Given the description of an element on the screen output the (x, y) to click on. 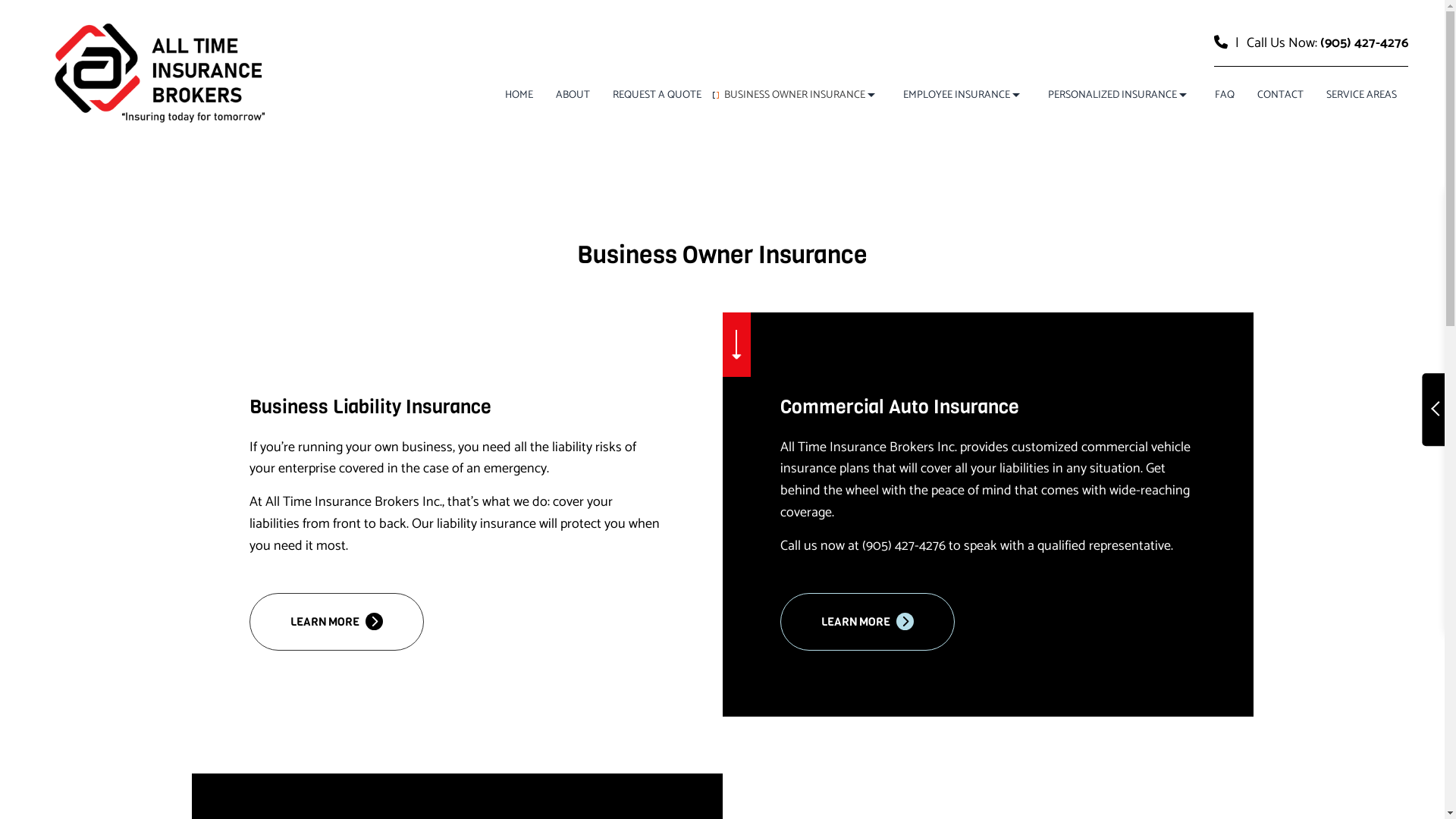
PRESCRIPTION DRUG PLAN Element type: text (1154, 282)
MOBILE HOME INSURANCE Element type: text (1154, 229)
COMMERCIAL PROPERTY INSURANCE Element type: text (830, 176)
(905) 427-4276 Element type: text (1364, 42)
PET INSURANCE Element type: text (927, 282)
CONDO INSURANCE Element type: text (927, 176)
CAR INSURANCE Element type: text (1154, 150)
INDIVIDUAL HEALTH INSURANCE Element type: text (927, 203)
LIFE INSURANCE Element type: text (927, 229)
FAQ Element type: text (1224, 95)
MOTORCYCLE INSURANCE Element type: text (927, 256)
COMMERCIAL UMBRELLA INSURANCE Element type: text (603, 203)
EMPLOYEE RETIREMENT PLANS Element type: text (1009, 176)
CONTACT Element type: text (1279, 95)
LEARN MORE Element type: text (336, 621)
PROFESSIONAL LIABILITY INSURANCE Element type: text (830, 203)
LEARN MORE Element type: text (867, 621)
PERSONALIZED INSURANCE Element type: text (1119, 95)
GROUP HEALTH INSURANCE Element type: text (782, 203)
LIFE AND HEALTH INSURANCE BENEFITS Element type: text (1009, 203)
HOME Element type: text (518, 95)
INSURANCE BROKER Element type: text (1154, 203)
DENTAL AND VISION INSURANCE Element type: text (1009, 150)
All Time Insurance Brokers Inc. Element type: hover (164, 72)
SERVICE AREAS Element type: text (1361, 95)
BOAT INSURANCE Element type: text (927, 150)
DISABILITY INSURANCE Element type: text (782, 176)
REQUEST A QUOTE Element type: text (656, 95)
COMMERCIAL AUTO INSURANCE Element type: text (830, 150)
AD&D INSURANCE Element type: text (782, 150)
LONG-TERM CARE INSURANCE Element type: text (782, 229)
BUSINESS OWNER INSURANCE Element type: text (801, 95)
EMPLOYEE INSURANCE Element type: text (963, 95)
RENTER INSURANCE Element type: text (927, 309)
SENIOR LIFE INSURANCE Element type: text (1154, 309)
PERSONAL UMBRELLA INSURANCE Element type: text (1154, 256)
COMMERCIAL INSURANCE Element type: text (603, 176)
BUSINESS LIABILITY INSURANCE Element type: text (603, 150)
HOME INSURANCE Element type: text (1154, 176)
ABOUT Element type: text (572, 95)
